Given the description of an element on the screen output the (x, y) to click on. 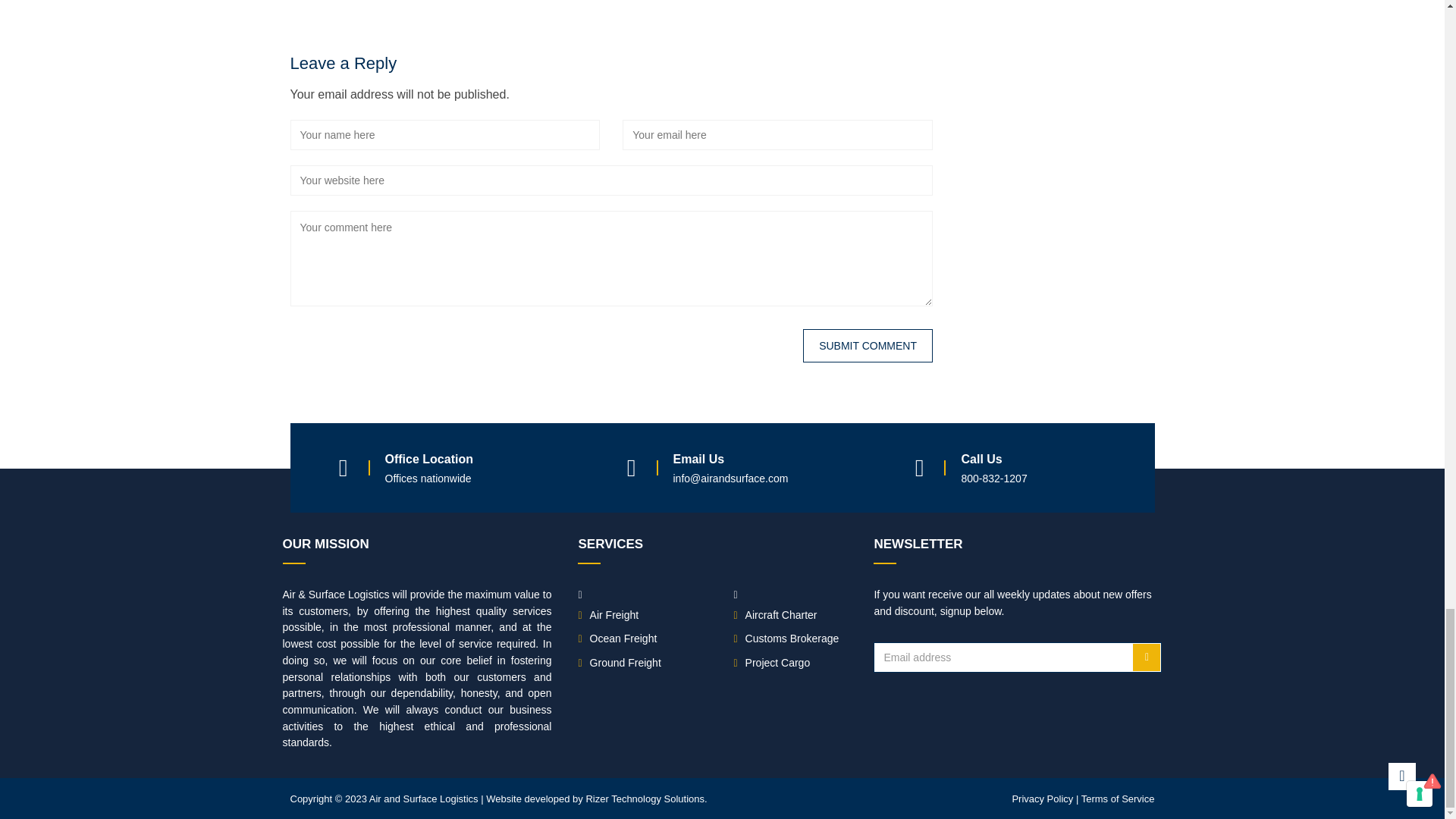
Submit Comment (868, 345)
